Given the description of an element on the screen output the (x, y) to click on. 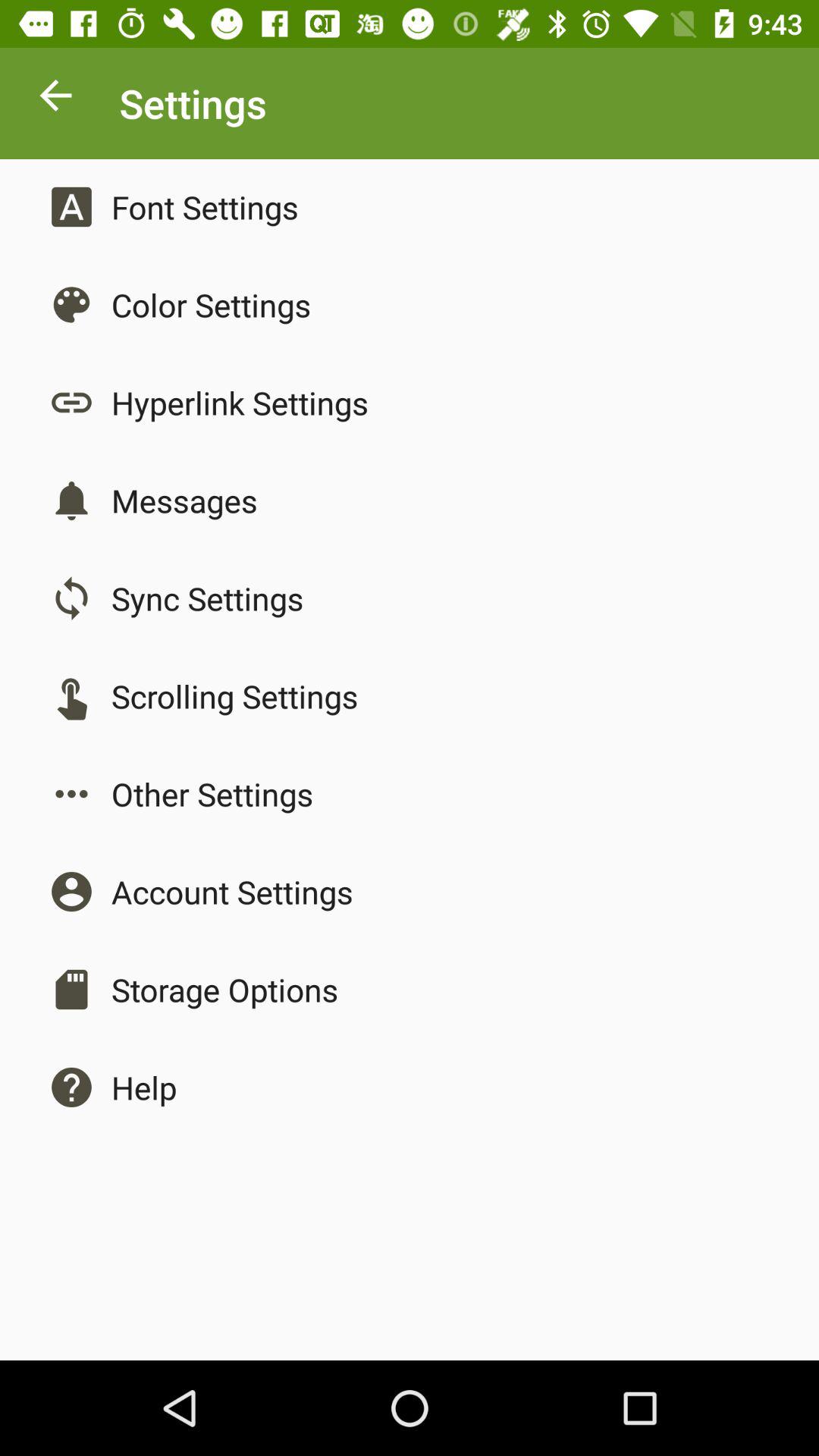
select the app above messages item (239, 402)
